Given the description of an element on the screen output the (x, y) to click on. 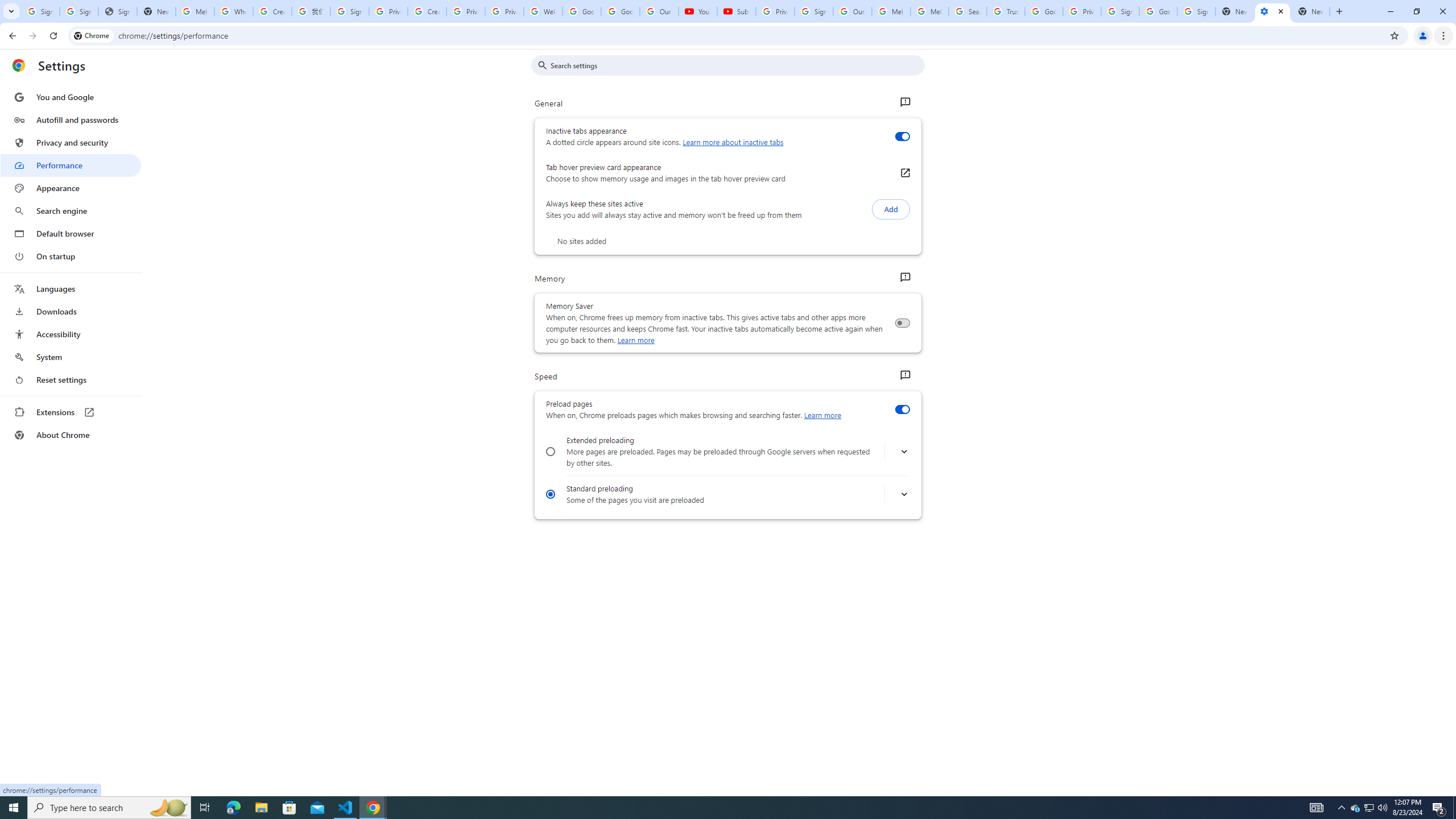
Google Cybersecurity Innovations - Google Safety Center (1158, 11)
Create your Google Account (427, 11)
